Given the description of an element on the screen output the (x, y) to click on. 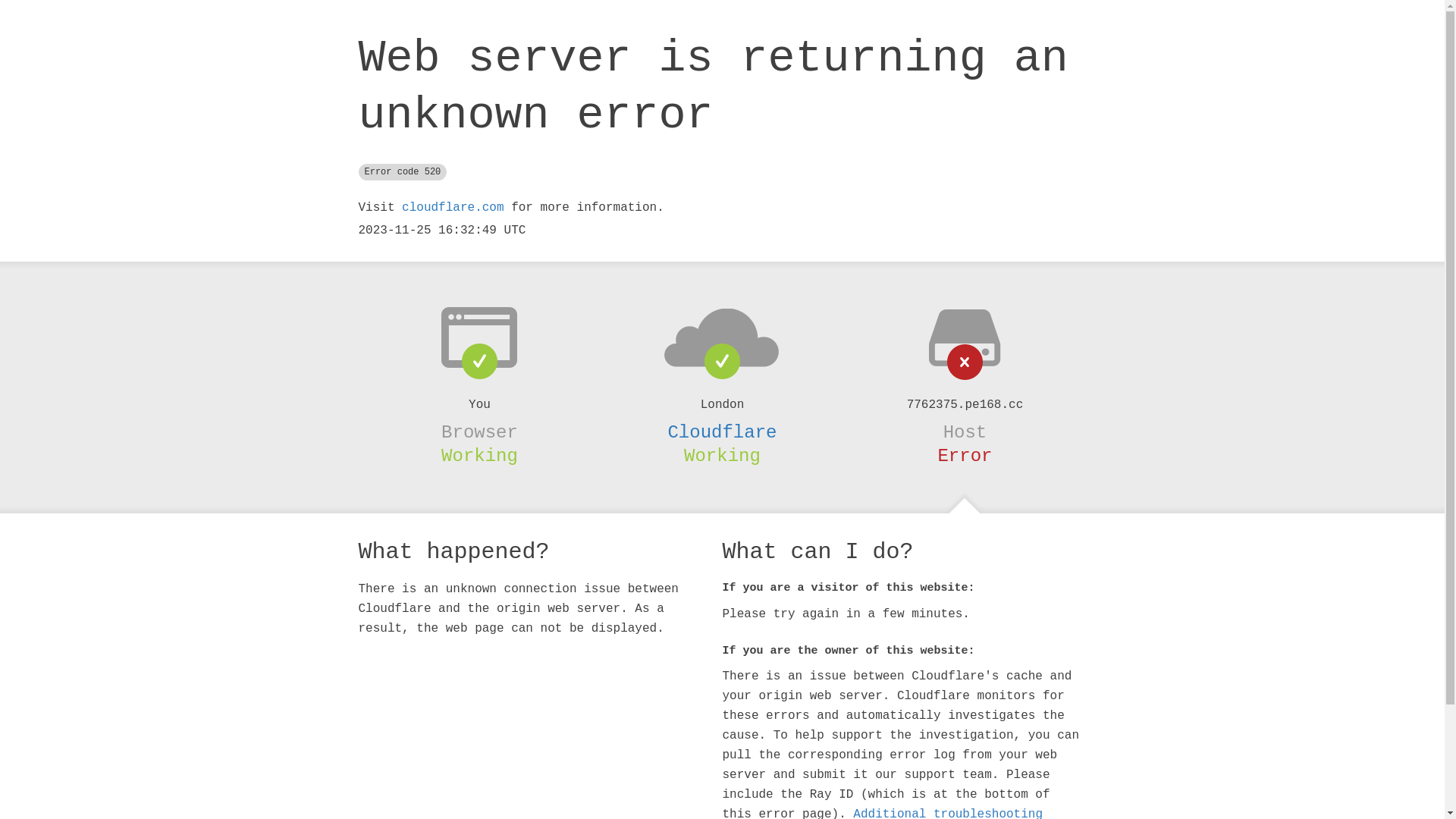
cloudflare.com Element type: text (452, 207)
Cloudflare Element type: text (721, 432)
